Given the description of an element on the screen output the (x, y) to click on. 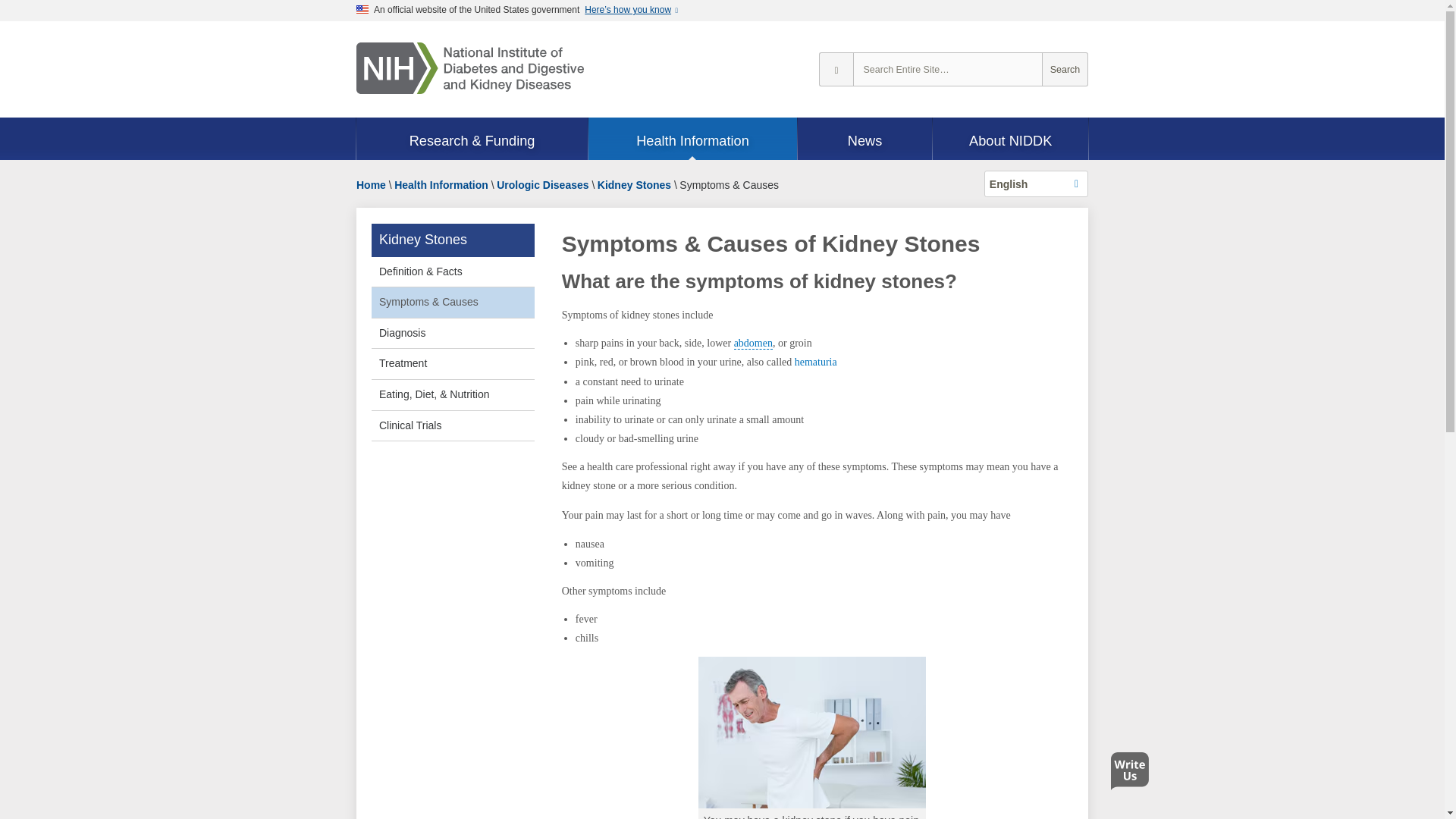
Search (1064, 69)
Show alternate languages for this page (1035, 183)
Health Information (692, 139)
Search Entire Site (1064, 69)
News (865, 139)
Change search scope (835, 69)
Write us (1133, 774)
